Given the description of an element on the screen output the (x, y) to click on. 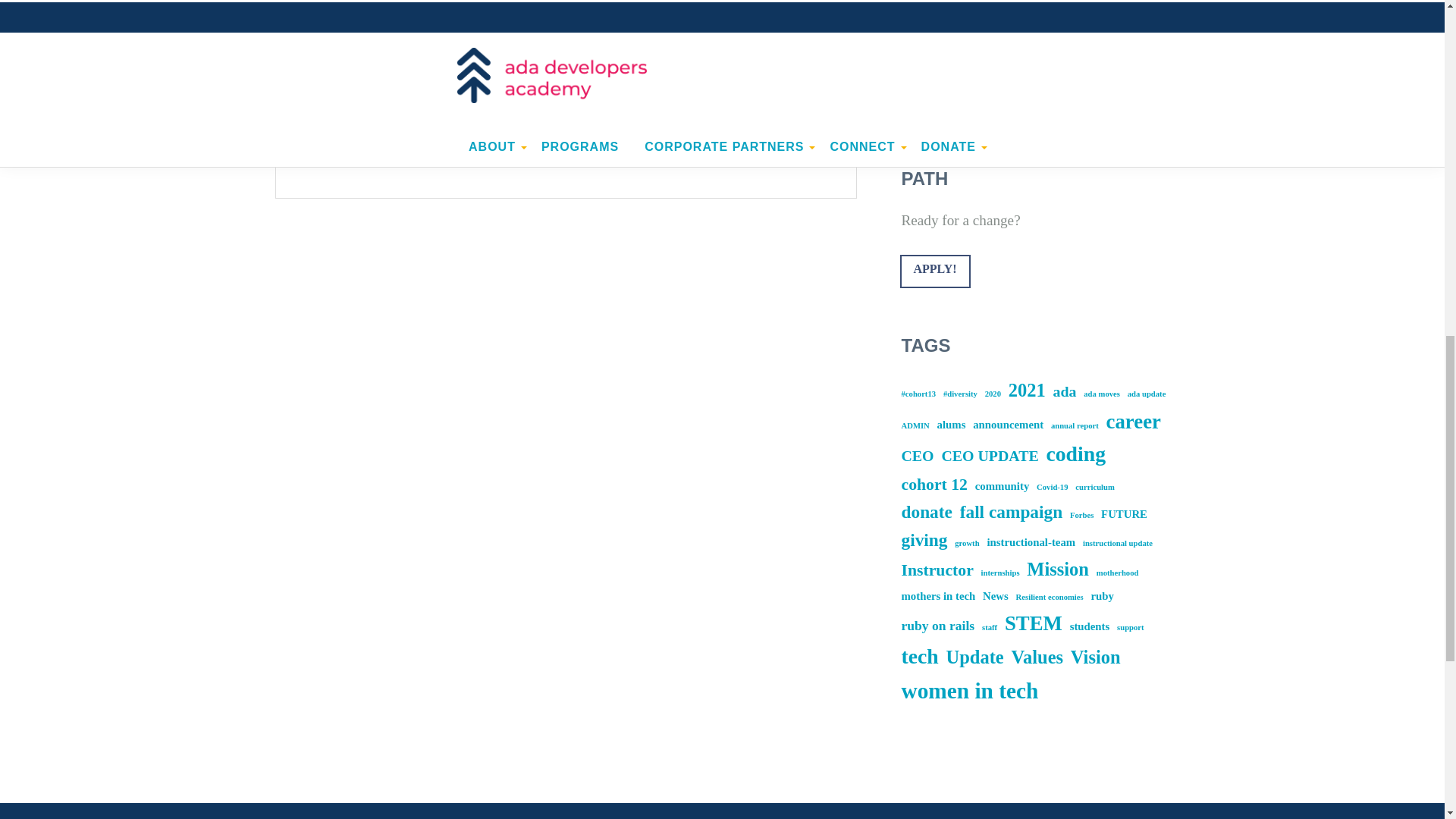
ada moves (1101, 393)
2020 (993, 393)
ada update (1146, 393)
Leadership Transition (970, 85)
ada (1064, 392)
2021 (1027, 389)
APPLY! (934, 271)
